Given the description of an element on the screen output the (x, y) to click on. 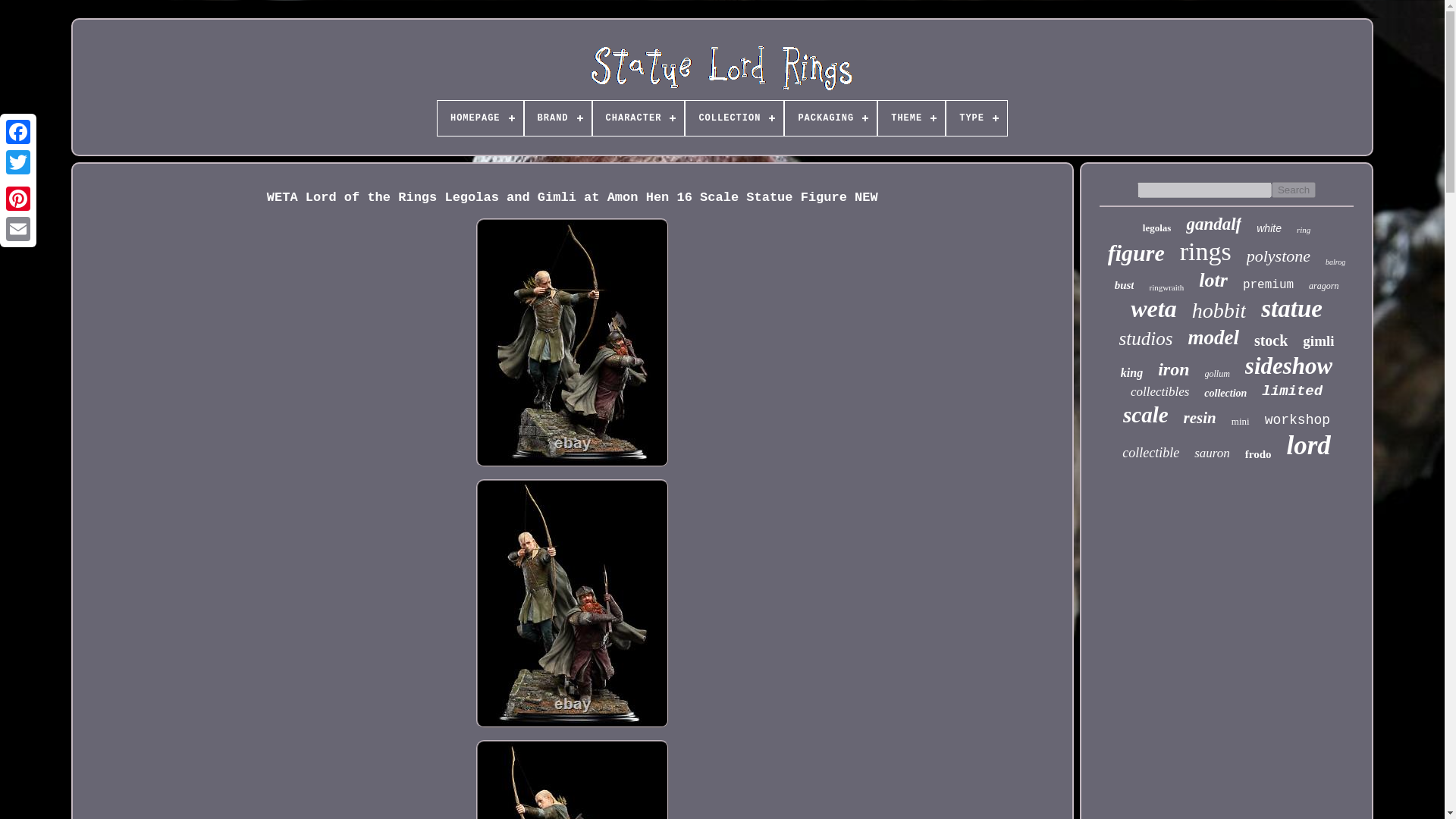
BRAND (557, 117)
Search (1293, 189)
CHARACTER (638, 117)
HOMEPAGE (480, 117)
